Given the description of an element on the screen output the (x, y) to click on. 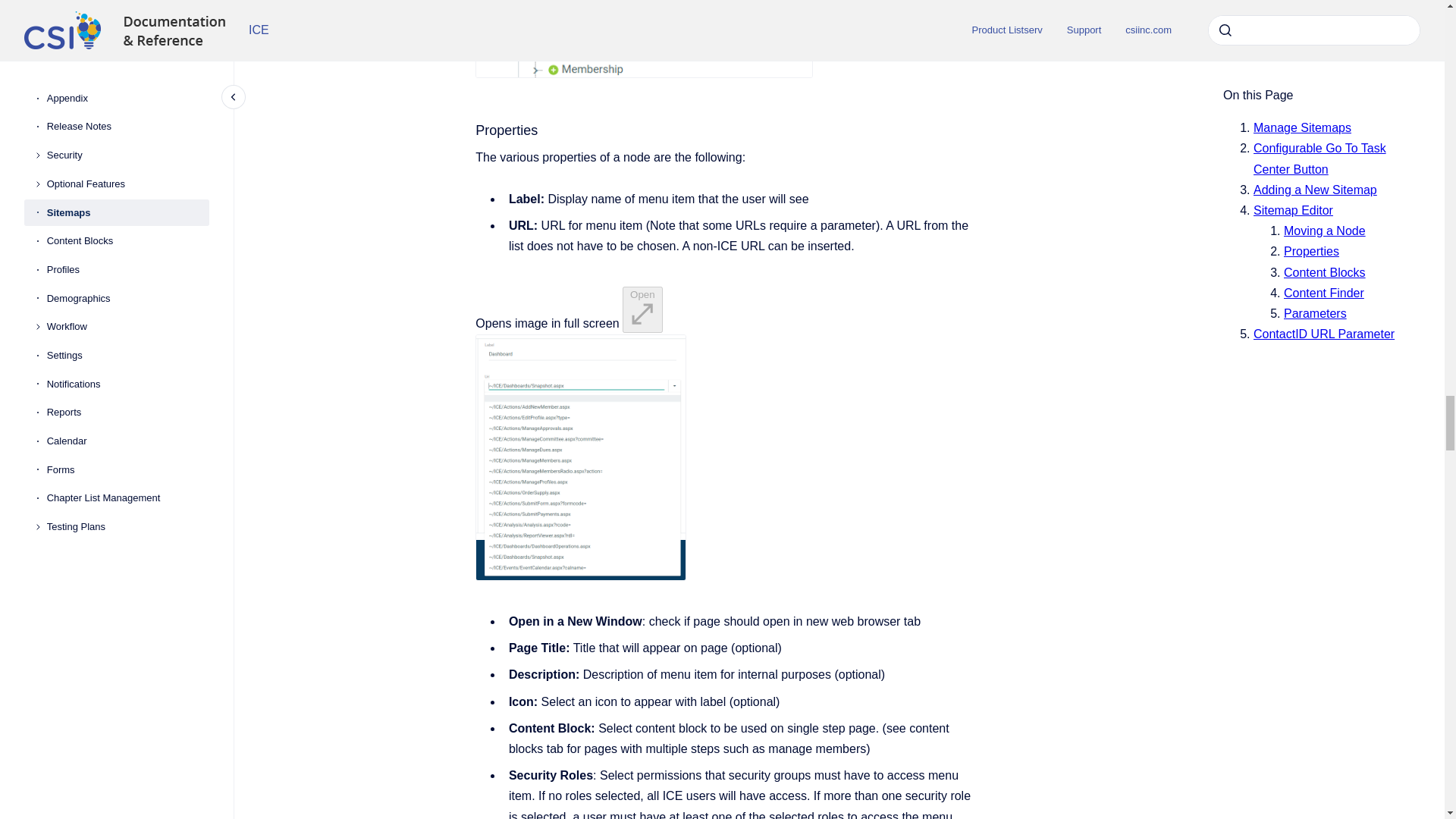
Copy to clipboard (468, 129)
